Given the description of an element on the screen output the (x, y) to click on. 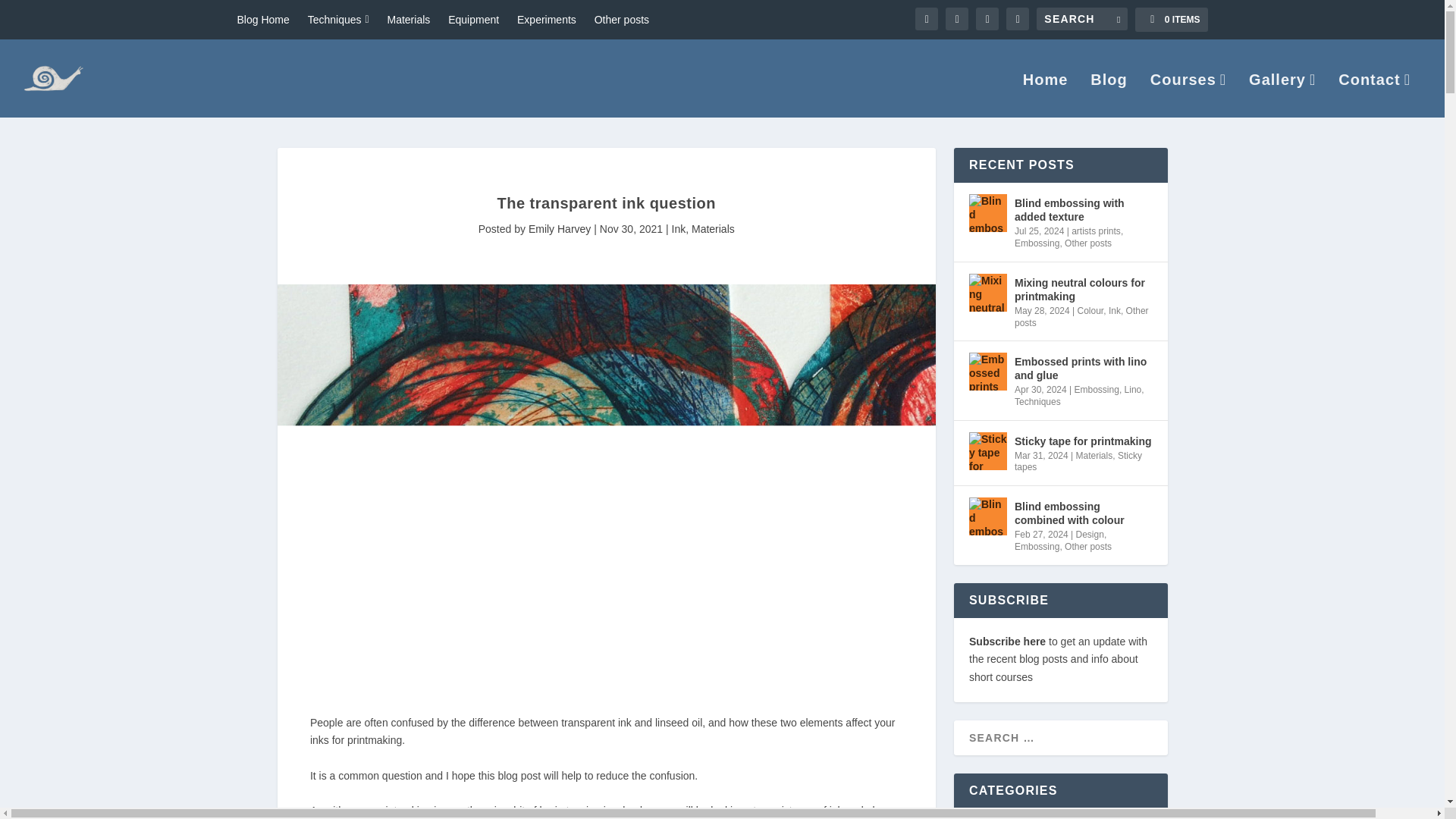
Equipment (473, 19)
Blog Home (261, 19)
Emily Harvey (559, 228)
Courses (1187, 95)
Materials (713, 228)
Other posts (621, 19)
0 Items in Cart (1171, 19)
Ink (678, 228)
Home (1045, 95)
Gallery (1282, 95)
